Given the description of an element on the screen output the (x, y) to click on. 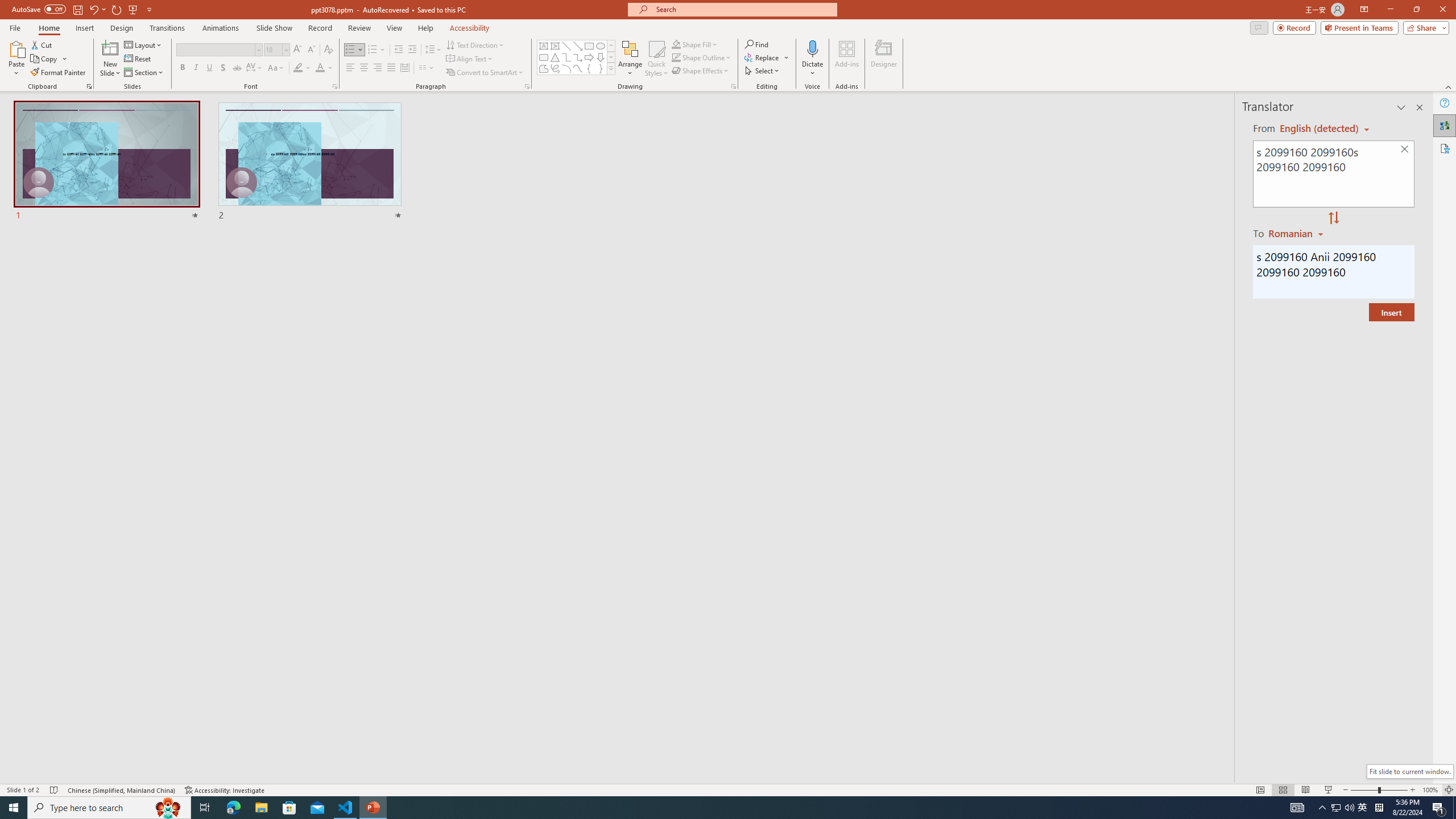
Underline (209, 67)
Layout (143, 44)
Swap "from" and "to" languages. (1333, 218)
Shapes (611, 68)
Character Spacing (254, 67)
Freeform: Shape (543, 68)
Right Brace (600, 68)
Format Object... (733, 85)
Zoom 100% (1430, 790)
AutomationID: ShapesInsertGallery (576, 57)
